Given the description of an element on the screen output the (x, y) to click on. 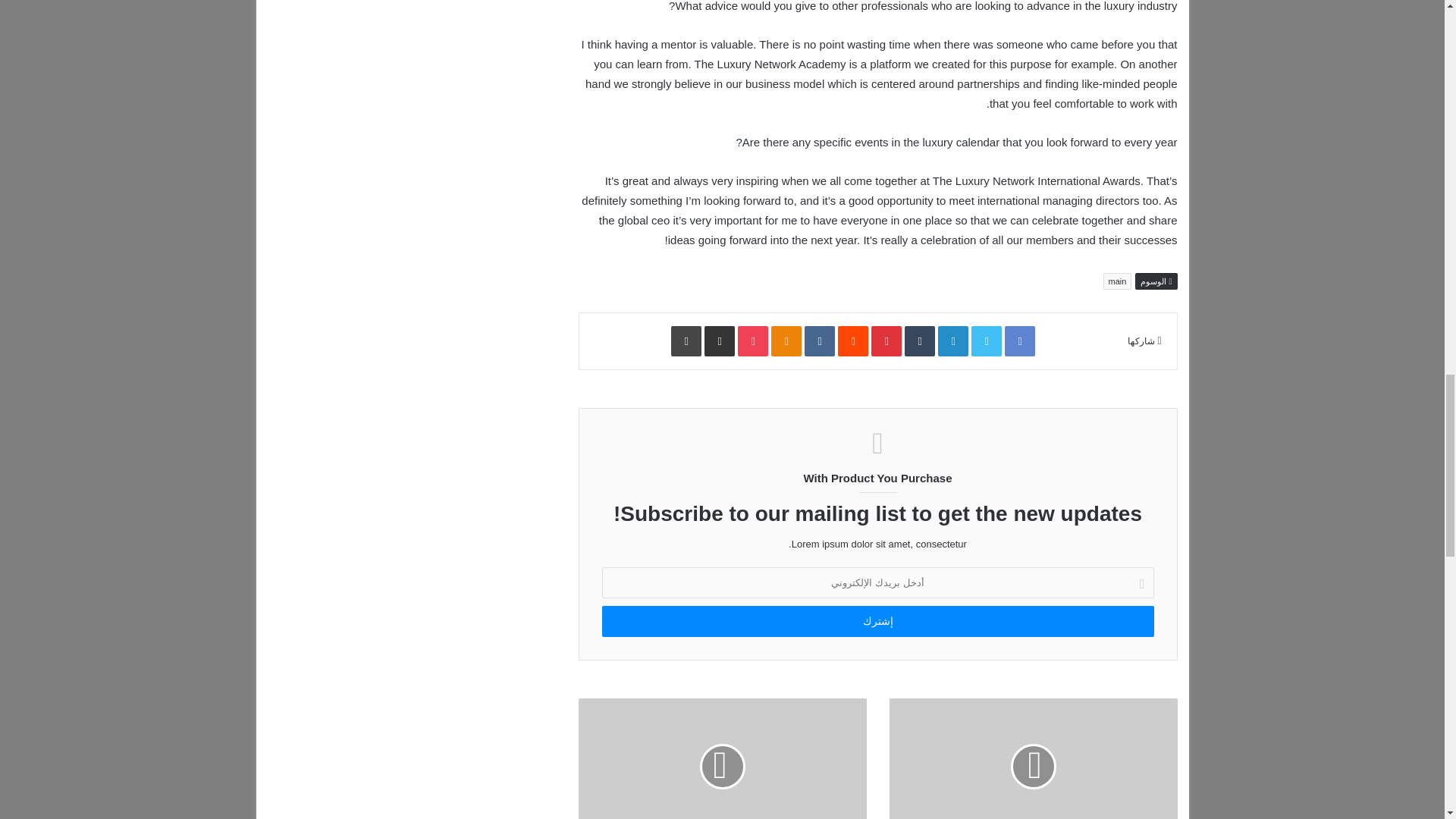
Tumblr (919, 340)
Facebook (1019, 340)
Reddit (852, 340)
LinkedIn (952, 340)
Twitter (986, 340)
VKontakte (819, 340)
main (1117, 280)
Pinterest (885, 340)
